Given the description of an element on the screen output the (x, y) to click on. 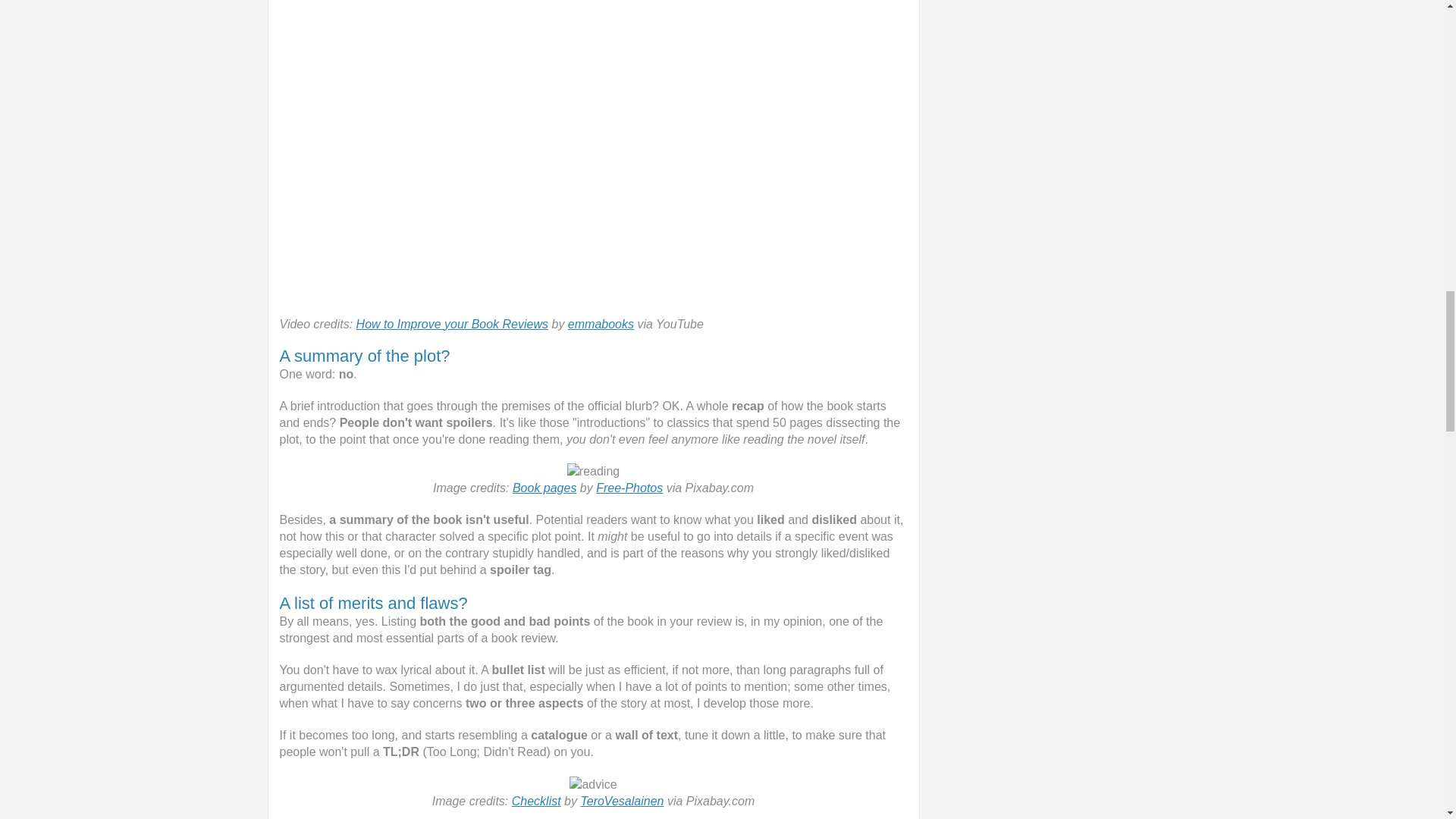
Book pages (544, 487)
Free-Photos (628, 487)
Checklist (536, 800)
How to Improve your Book Reviews (452, 323)
TeroVesalainen (621, 800)
emmabooks (600, 323)
